Given the description of an element on the screen output the (x, y) to click on. 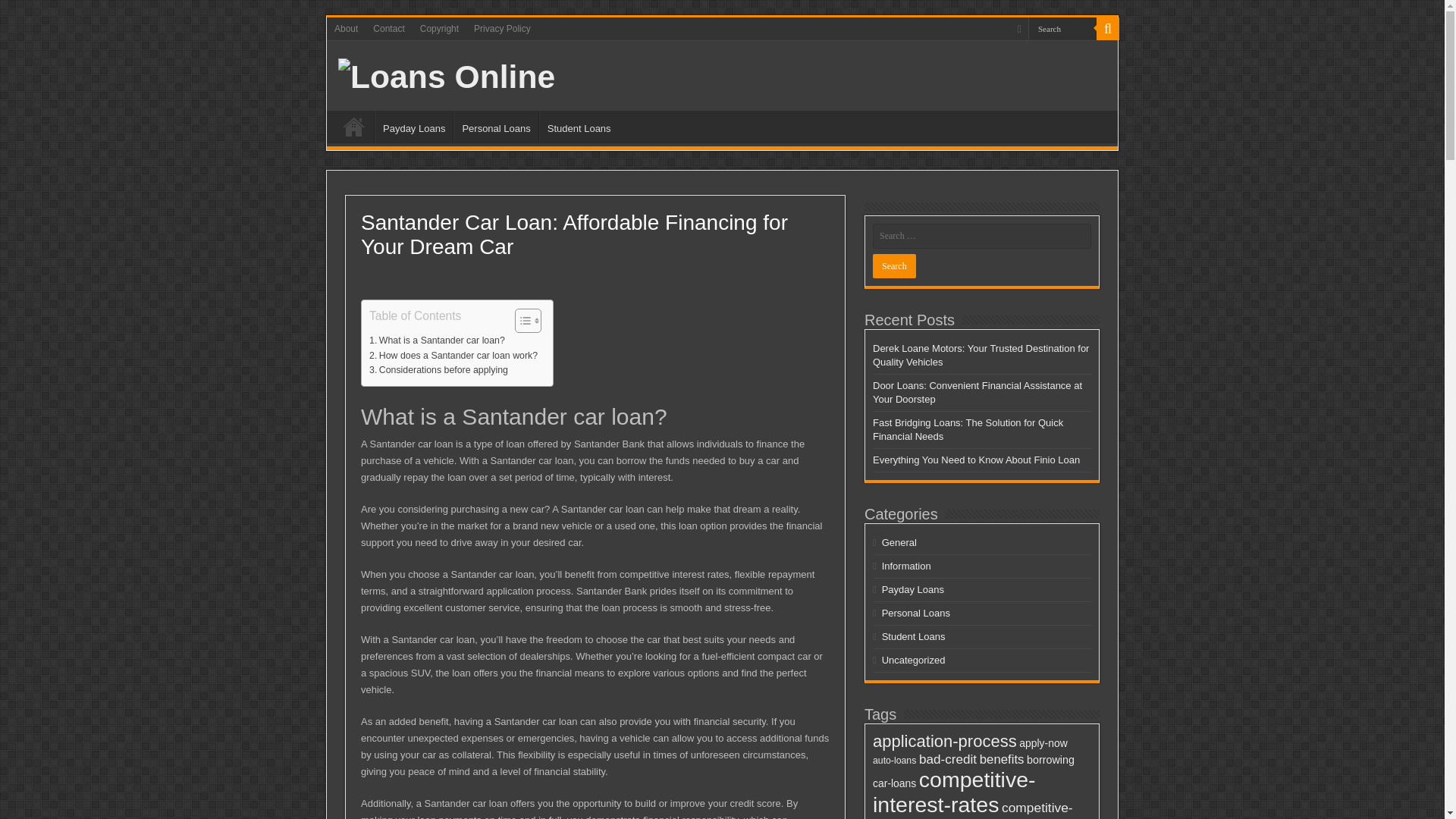
About (345, 28)
Door Loans: Convenient Financial Assistance at Your Doorstep (976, 392)
Considerations before applying (438, 370)
Search (1061, 28)
apply-now (1043, 743)
Considerations before applying (438, 370)
How does a Santander car loan work? (453, 355)
Search (1061, 28)
Rss (1019, 29)
Payday Loans (912, 589)
auto-loans (893, 760)
benefits (1002, 759)
What is a Santander car loan? (437, 340)
Personal Loans (494, 126)
